Given the description of an element on the screen output the (x, y) to click on. 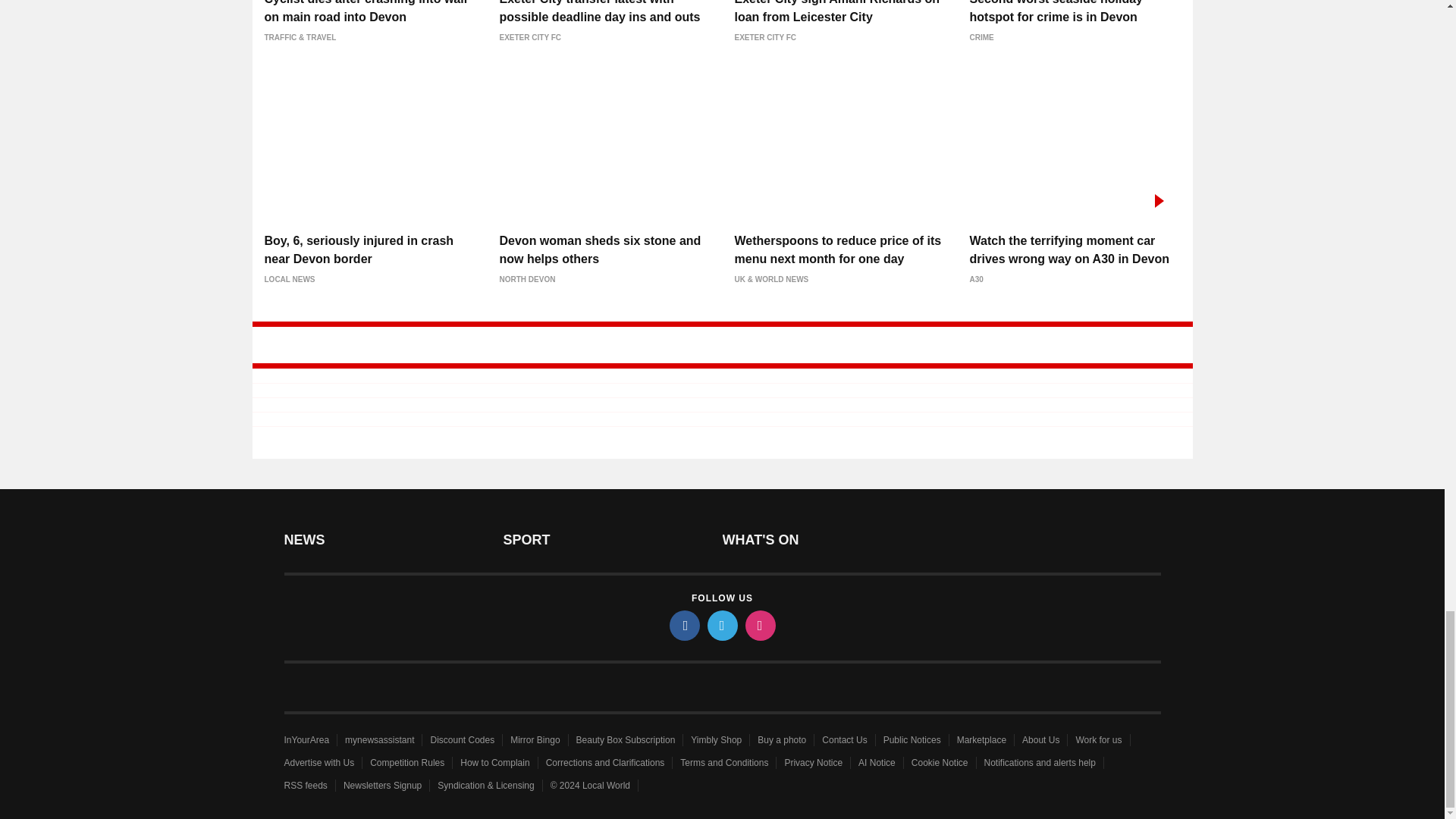
twitter (721, 625)
instagram (759, 625)
facebook (683, 625)
